Given the description of an element on the screen output the (x, y) to click on. 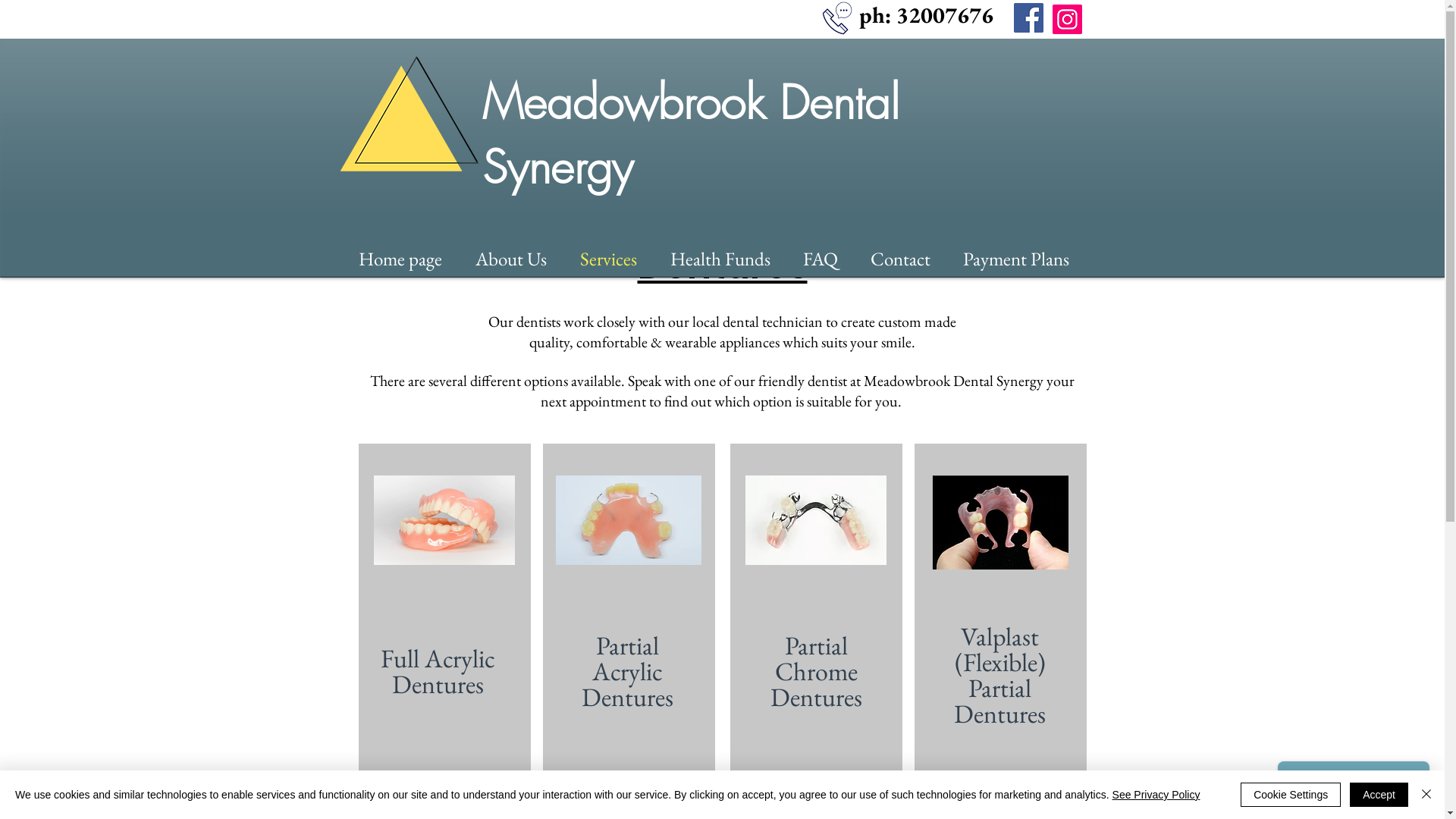
Health Funds Element type: text (728, 257)
ph: 32007676 Element type: text (925, 14)
Accept Element type: text (1378, 794)
Services Element type: text (616, 257)
FAQ Element type: text (828, 257)
Contact Element type: text (908, 257)
Cookie Settings Element type: text (1290, 794)
Home page Element type: text (408, 257)
Payment Plans Element type: text (1024, 257)
See Privacy Policy Element type: text (1156, 794)
About Us Element type: text (519, 257)
